Given the description of an element on the screen output the (x, y) to click on. 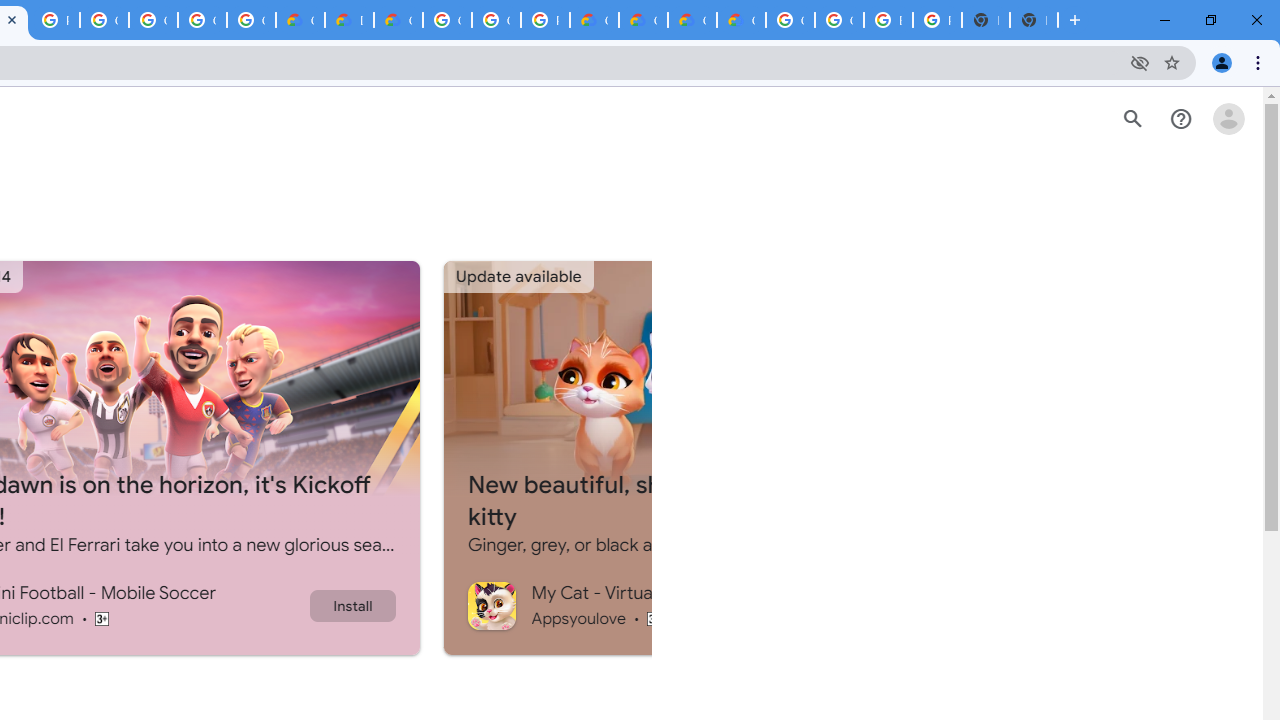
Google Workspace - Specific Terms (201, 20)
Google Cloud Pricing Calculator (643, 20)
